Given the description of an element on the screen output the (x, y) to click on. 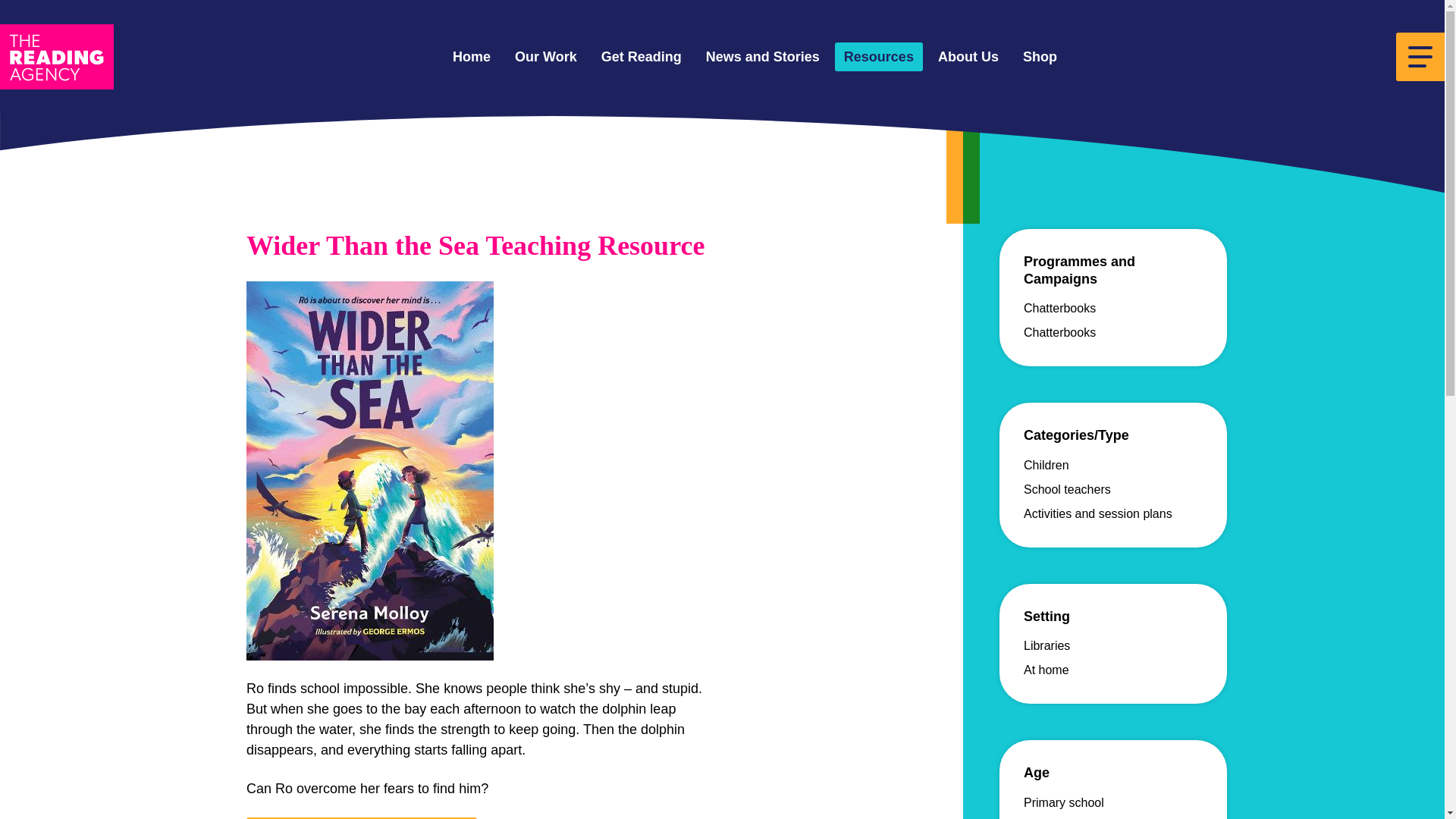
Get Reading (641, 57)
School teachers (1066, 489)
News and Stories (762, 57)
Our Work (545, 57)
Primary school (1063, 802)
Libraries (1046, 645)
Chatterbooks (1059, 332)
Children (1045, 464)
Resources (878, 57)
